Given the description of an element on the screen output the (x, y) to click on. 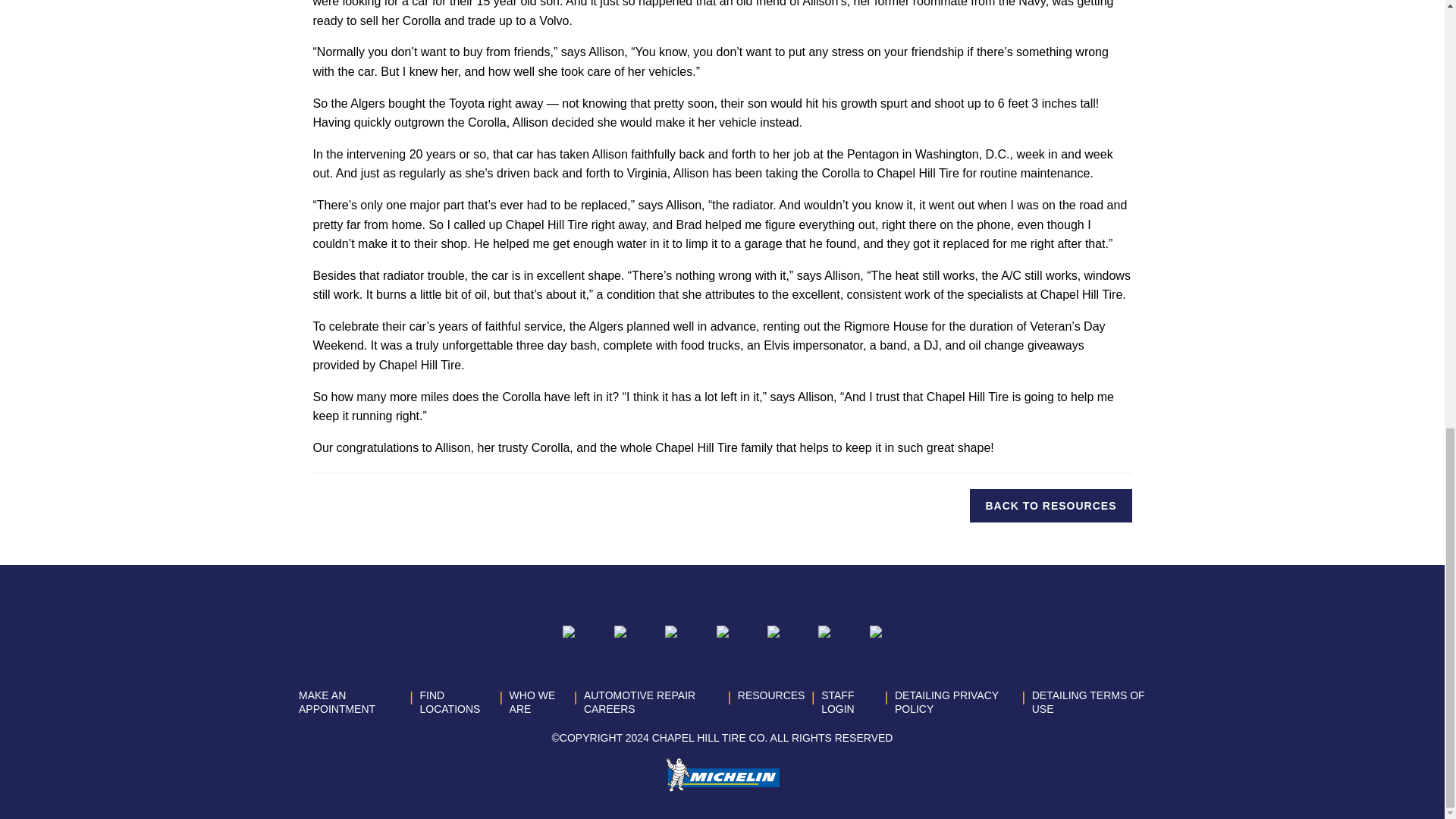
DETAILING TERMS OF USE (1088, 701)
WHO WE ARE (532, 701)
BACK TO RESOURCES (1050, 505)
AUTOMOTIVE REPAIR CAREERS (639, 701)
DETAILING PRIVACY POLICY (946, 701)
RESOURCES (771, 695)
MAKE AN APPOINTMENT (336, 701)
Michelin-logo (721, 774)
STAFF LOGIN (837, 701)
FIND LOCATIONS (450, 701)
